Given the description of an element on the screen output the (x, y) to click on. 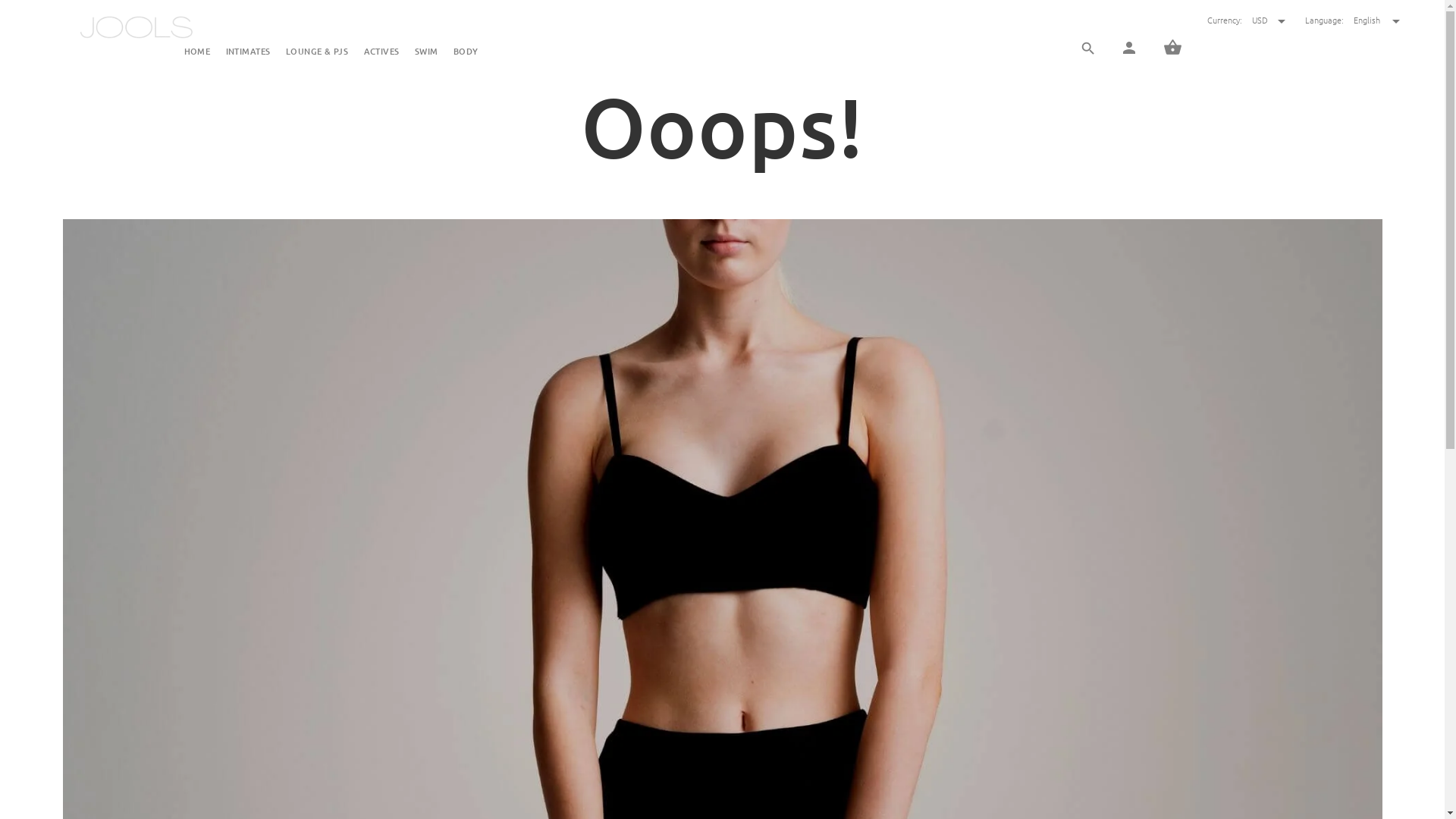
INTIMATES Element type: text (247, 52)
LOUNGE & PJS Element type: text (317, 52)
ACTIVES Element type: text (380, 52)
English Element type: text (1376, 19)
HOME Element type: text (200, 52)
USD Element type: text (1269, 19)
BODY Element type: text (461, 52)
SWIM Element type: text (426, 52)
